Given the description of an element on the screen output the (x, y) to click on. 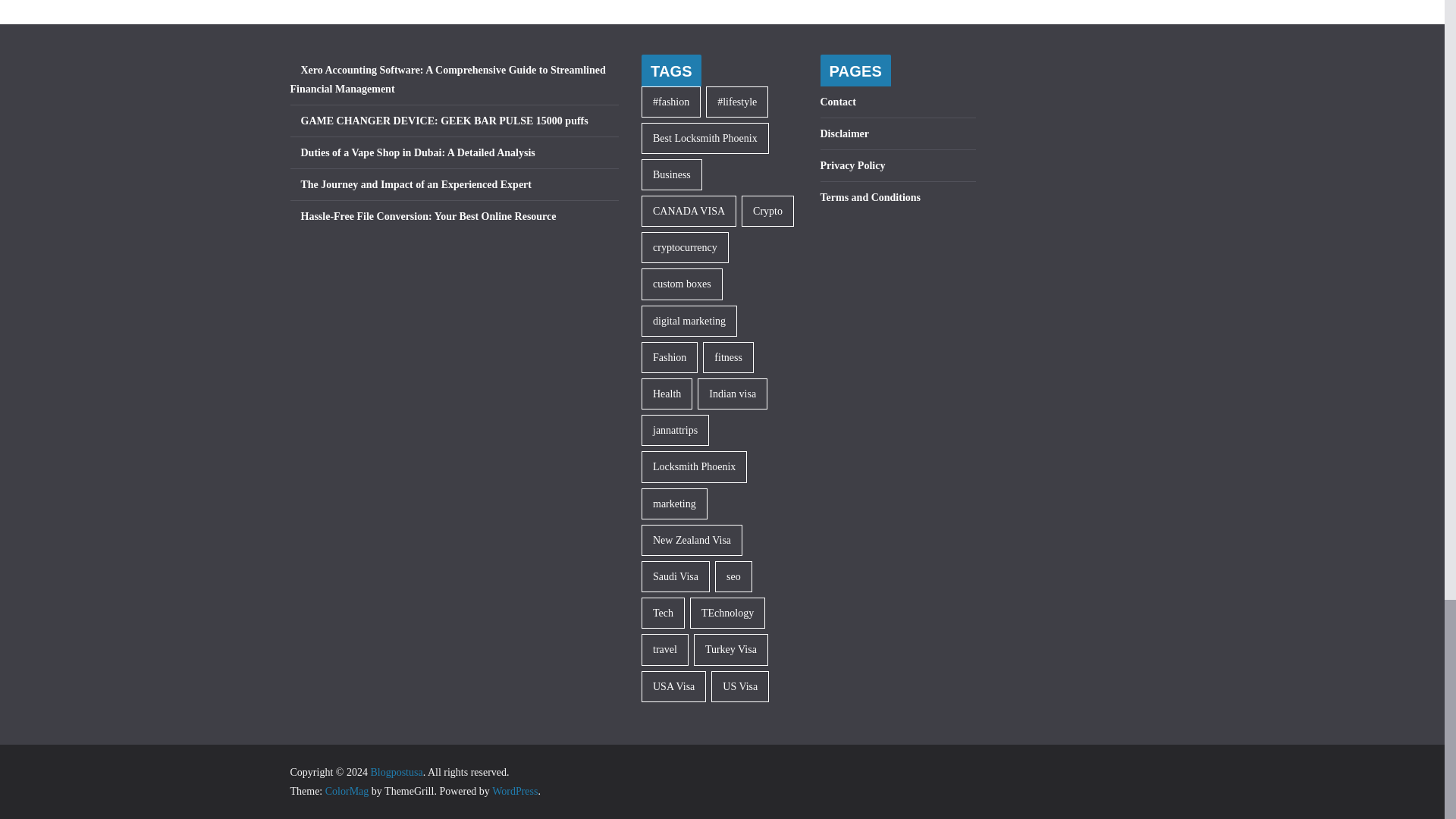
WordPress (514, 790)
Blogpostusa (395, 772)
ColorMag (346, 790)
